Given the description of an element on the screen output the (x, y) to click on. 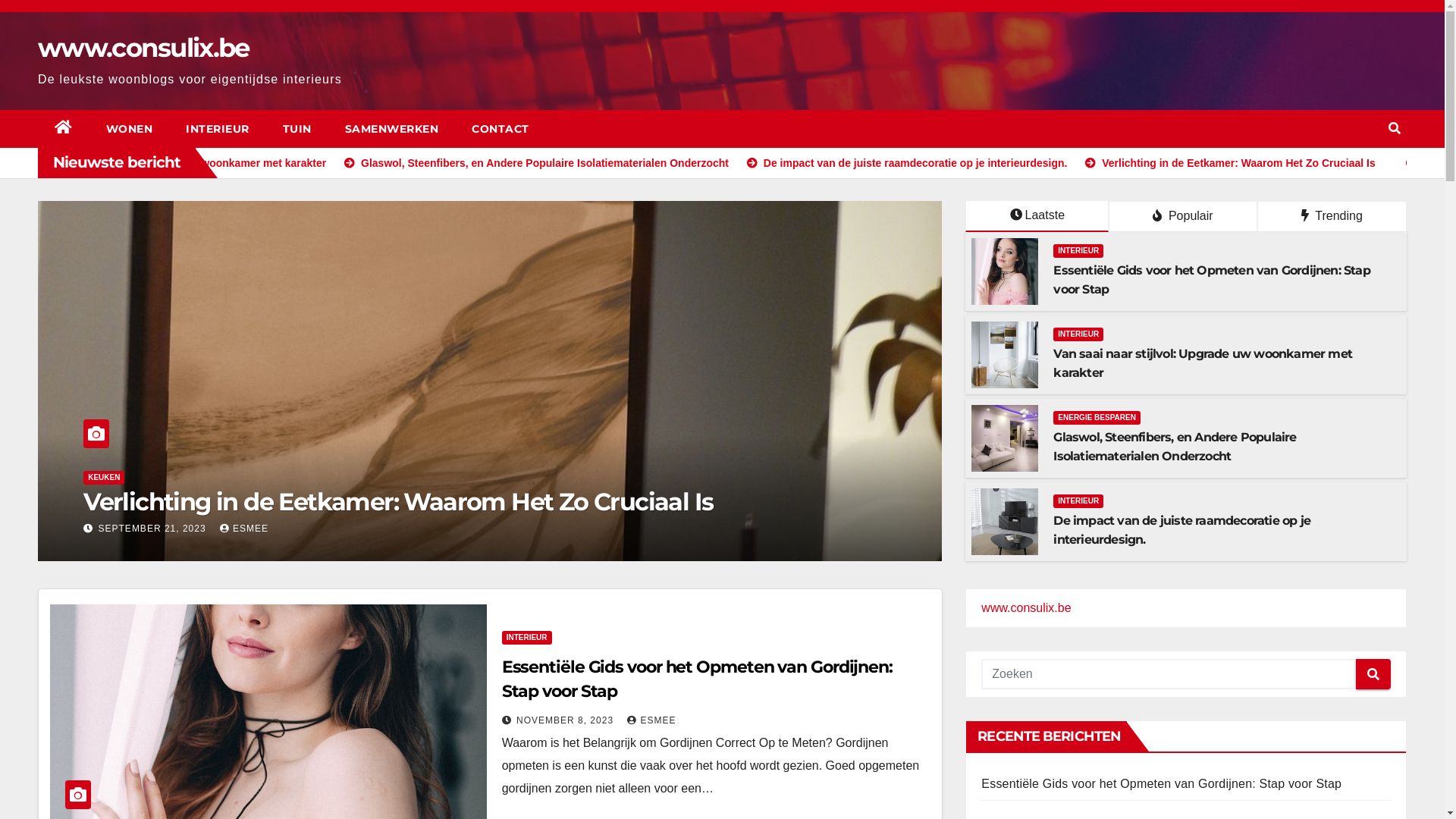
INTERIEUR Element type: text (527, 637)
Van saai naar stijlvol: Upgrade uw woonkamer met karakter Element type: text (1202, 362)
TUIN Element type: text (296, 128)
ESMEE Element type: text (651, 720)
De impact van de juiste raamdecoratie op je interieurdesign. Element type: text (1181, 529)
NOVEMBER 8, 2023 Element type: text (566, 720)
INTERIEUR Element type: text (1078, 501)
INTERIEUR Element type: text (217, 128)
De impact van de juiste raamdecoratie op je interieurdesign. Element type: text (447, 501)
INTERIEUR Element type: text (1078, 334)
www.consulix.be Element type: text (1025, 607)
Laatste Element type: text (1036, 216)
Trending Element type: text (1331, 216)
De impact van de juiste raamdecoratie op je interieurdesign. Element type: text (1071, 162)
SEPTEMBER 29, 2023 Element type: text (164, 528)
SAMENWERKEN Element type: text (391, 128)
ENERGIE BESPAREN Element type: text (1096, 417)
INTERIEUR Element type: text (1078, 250)
www.consulix.be Element type: text (143, 47)
CONTACT Element type: text (500, 128)
INTERIEUR Element type: text (128, 477)
Populair Element type: text (1182, 216)
ESMEE Element type: text (252, 528)
WONEN Element type: text (129, 128)
Van saai naar stijlvol: Upgrade uw woonkamer met karakter Element type: text (333, 162)
